Given the description of an element on the screen output the (x, y) to click on. 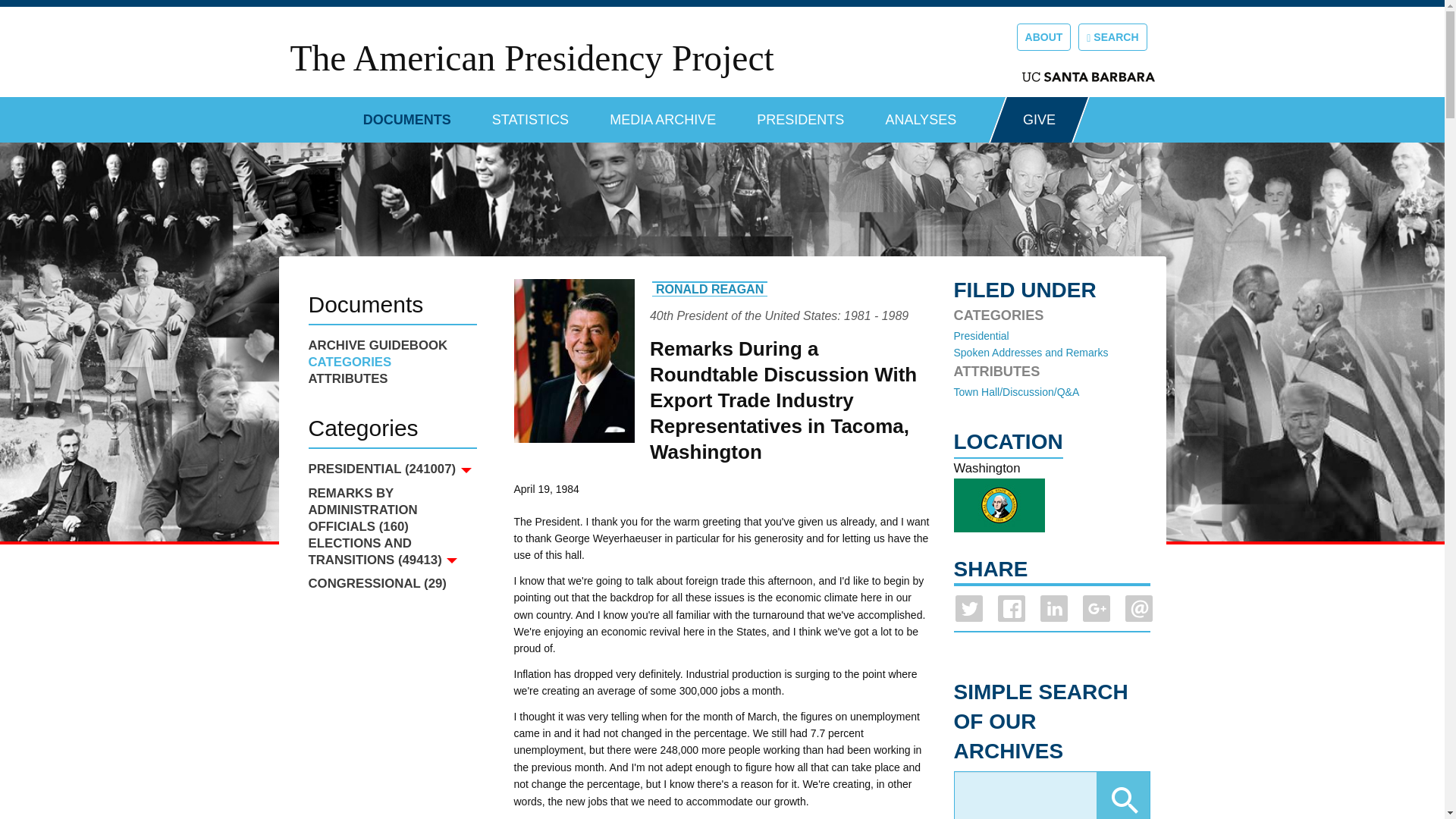
PRESIDENTS (800, 113)
CATEGORIES (391, 362)
GIVE (1038, 119)
ATTRIBUTES (391, 379)
The American Presidency Project (531, 57)
ANALYSES (920, 113)
DOCUMENTS (406, 113)
MEDIA ARCHIVE (663, 113)
ABOUT (1043, 36)
 SEARCH (1112, 36)
STATISTICS (530, 113)
ARCHIVE GUIDEBOOK (391, 345)
